Given the description of an element on the screen output the (x, y) to click on. 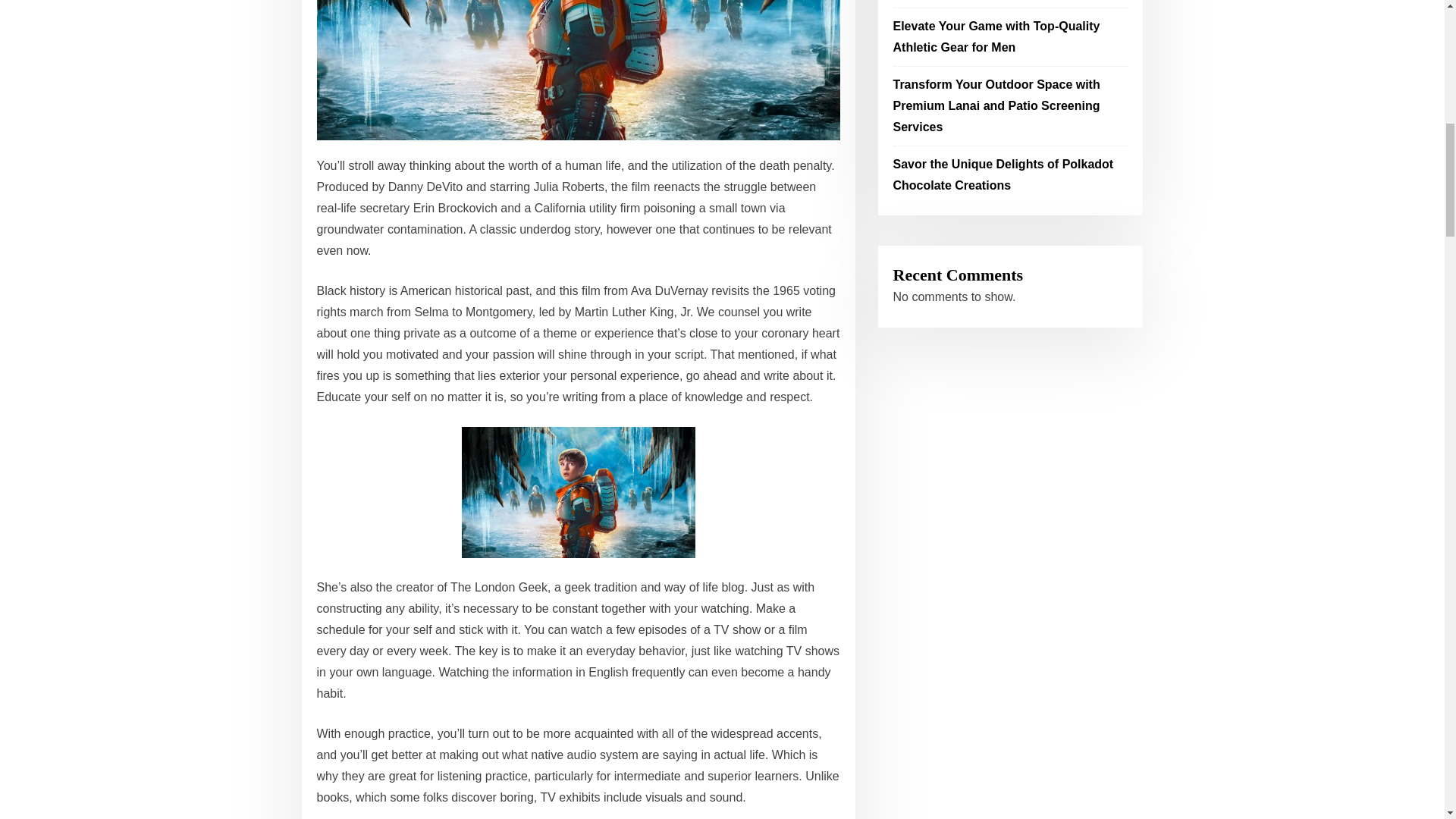
Elevate Your Game with Top-Quality Athletic Gear for Men (996, 36)
Savor the Unique Delights of Polkadot Chocolate Creations (1003, 174)
